Given the description of an element on the screen output the (x, y) to click on. 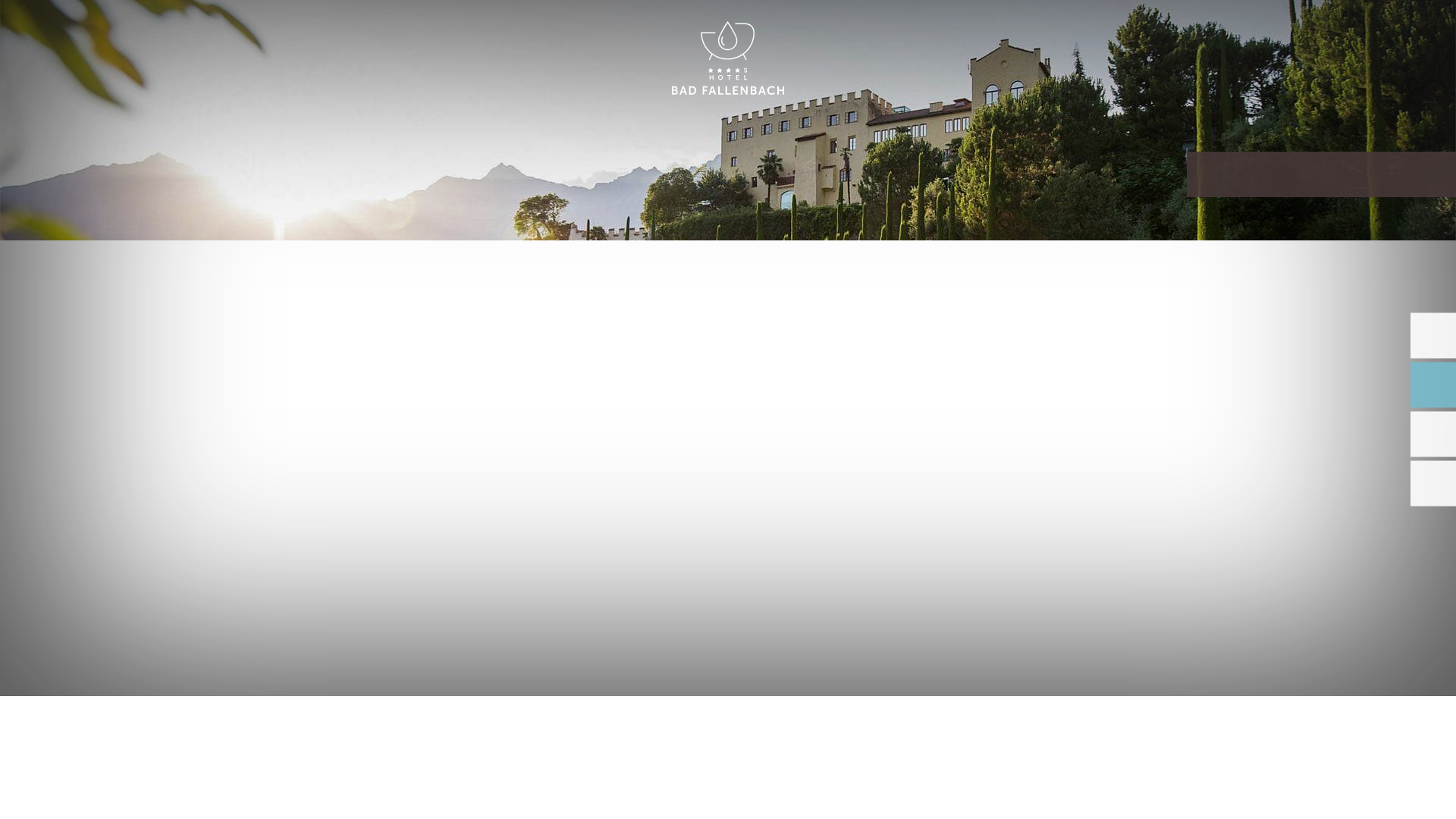
HOTEL BAD FALLENBACH (727, 59)
ENGLISH (1291, 29)
